Given the description of an element on the screen output the (x, y) to click on. 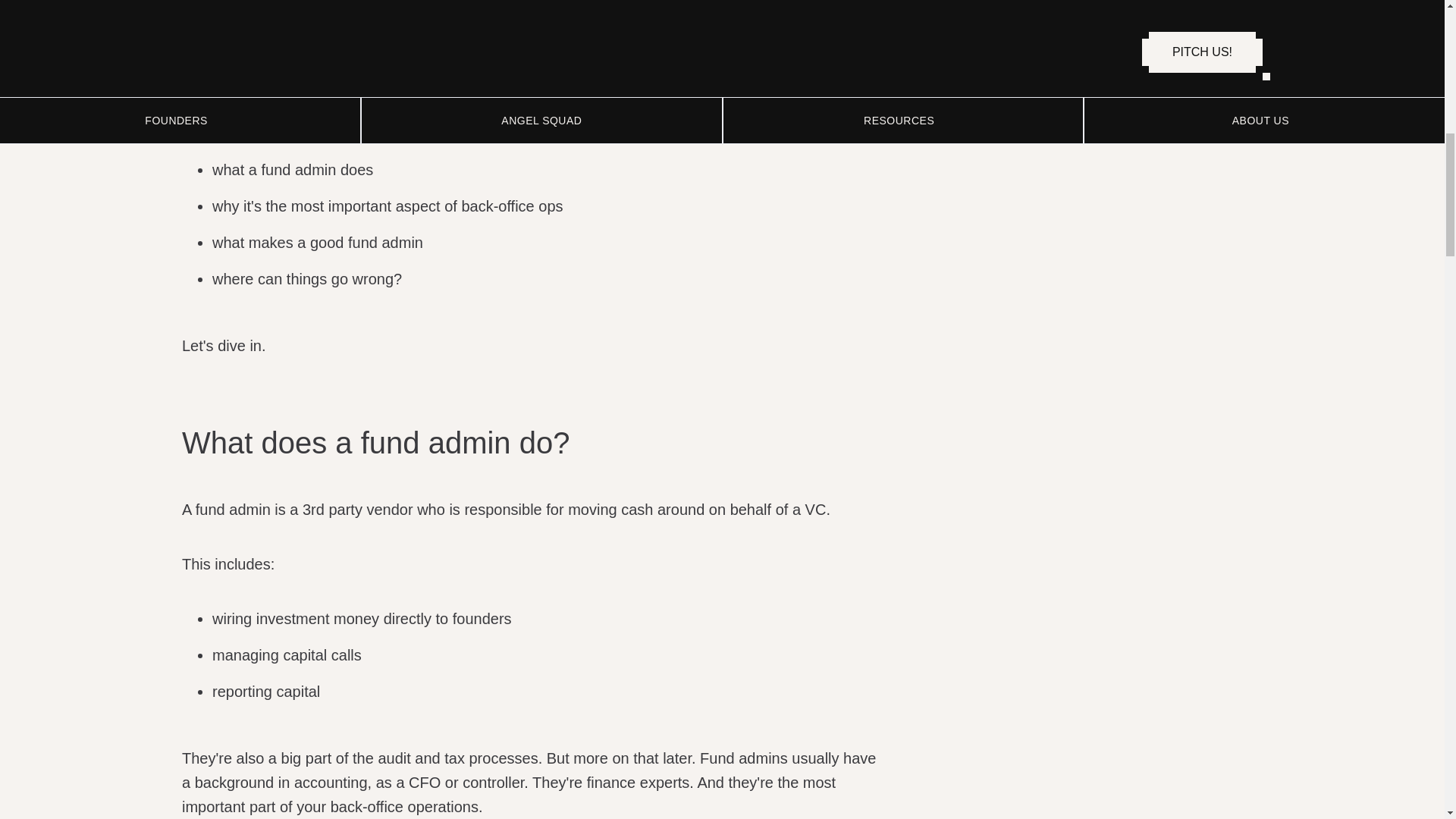
Legal stuff (232, 60)
Tax accountant (249, 7)
